Given the description of an element on the screen output the (x, y) to click on. 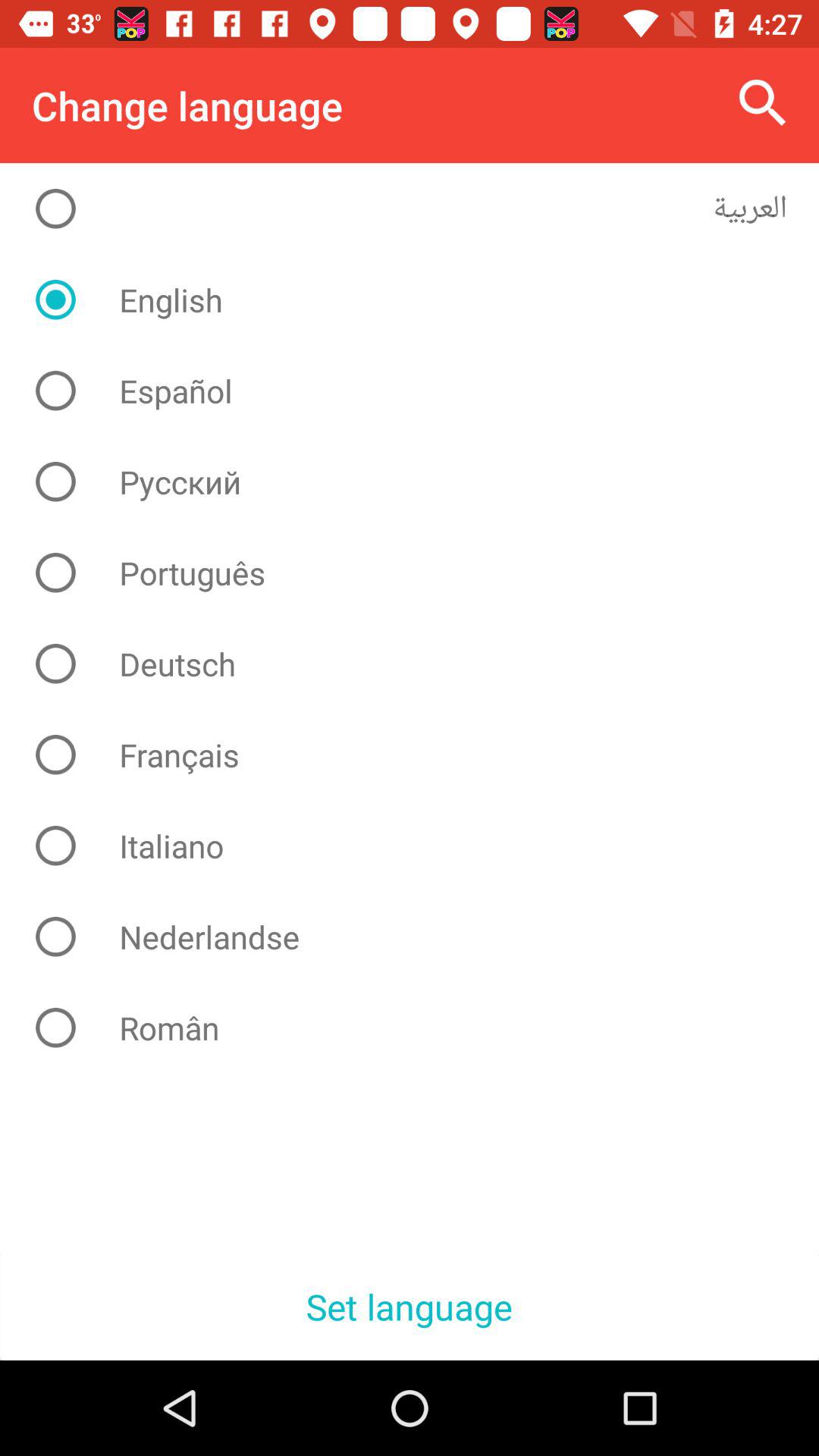
press item above deutsch icon (421, 572)
